Given the description of an element on the screen output the (x, y) to click on. 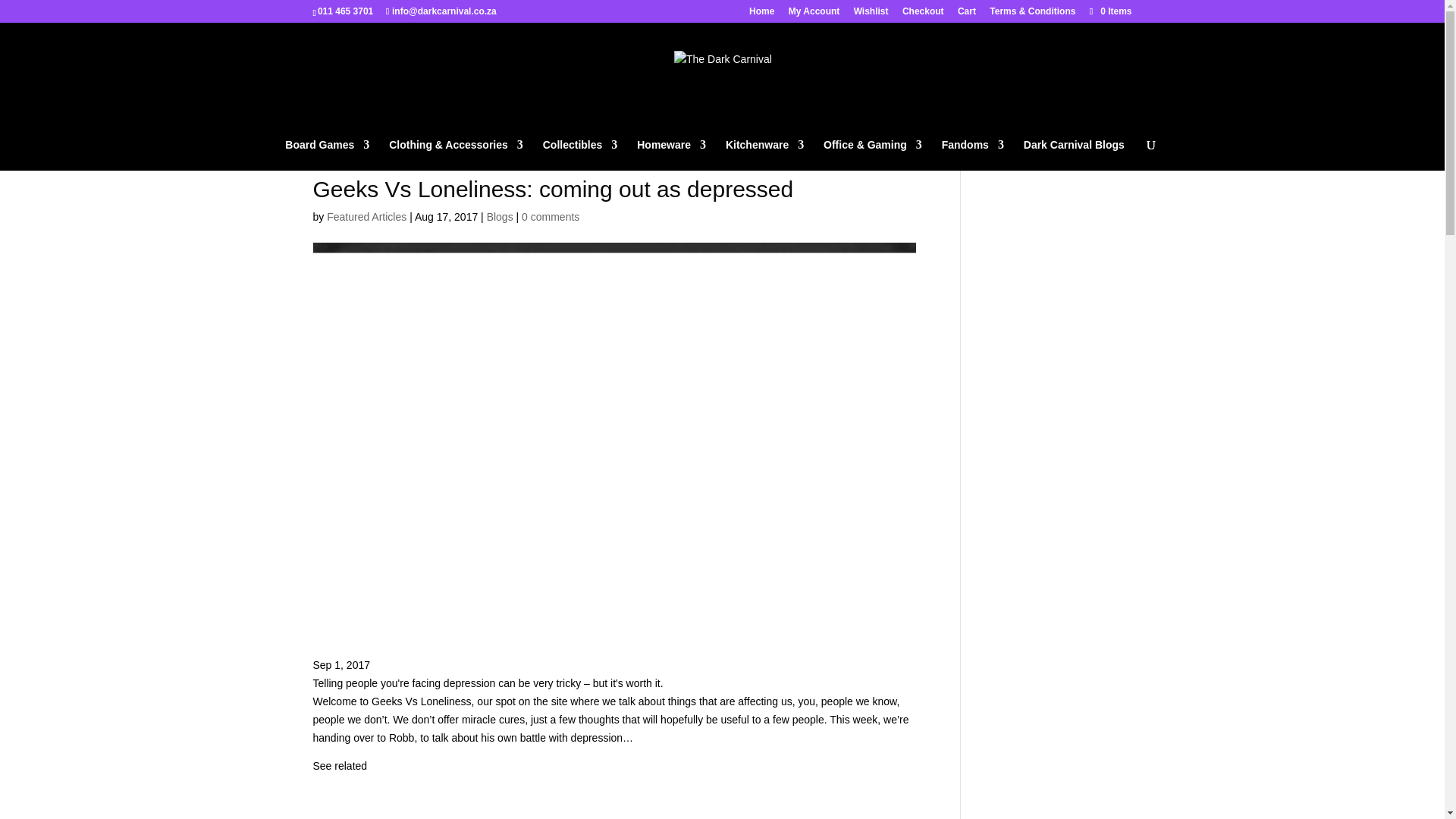
Cart (966, 14)
Board Games (327, 154)
Homeware (671, 154)
Posts by Featured Articles (366, 216)
Checkout (922, 14)
Home (761, 14)
My Account (814, 14)
Collectibles (580, 154)
0 Items (1108, 10)
Wishlist (870, 14)
